Given the description of an element on the screen output the (x, y) to click on. 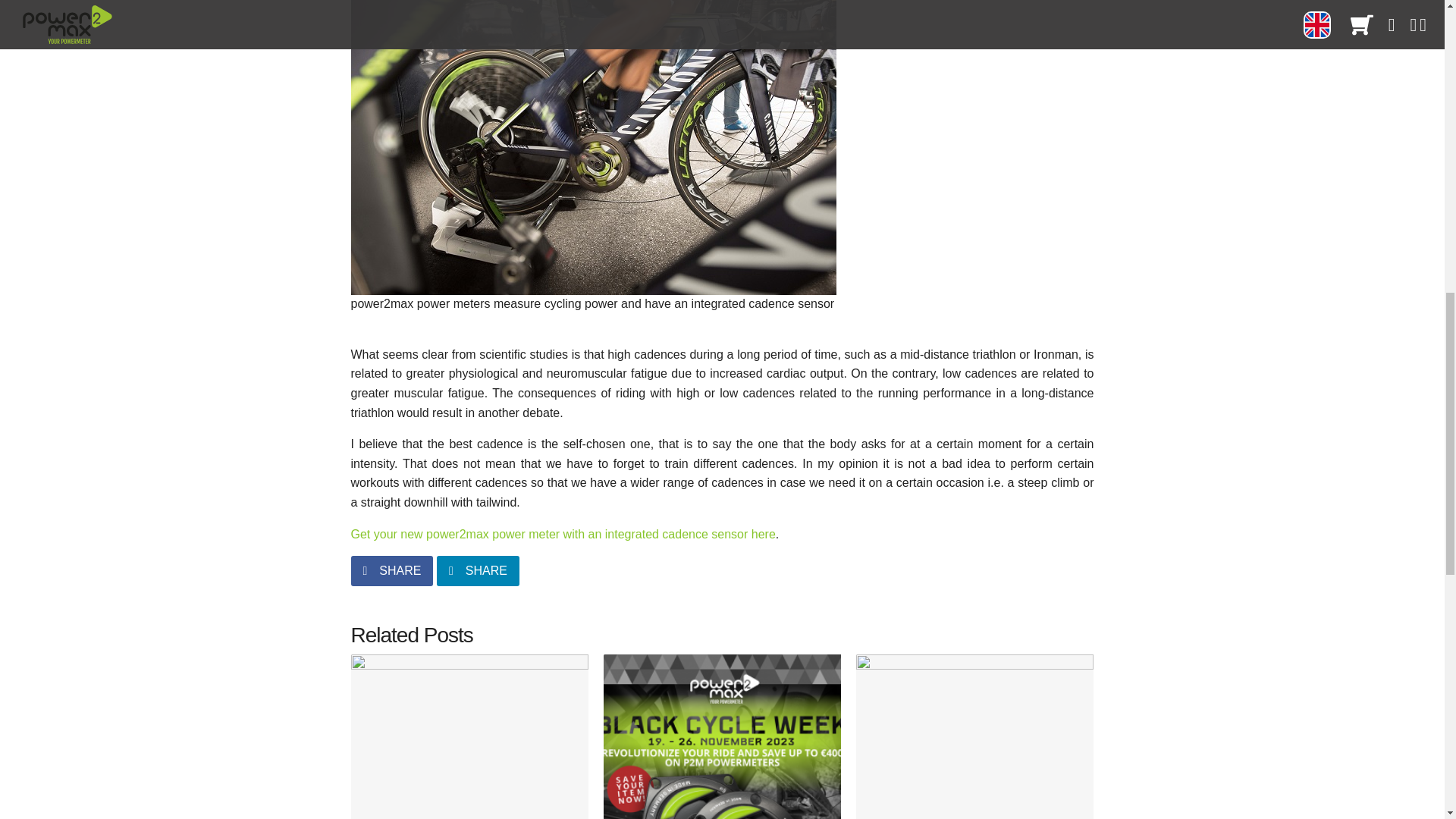
SHARE (722, 736)
SHARE (477, 571)
